Given the description of an element on the screen output the (x, y) to click on. 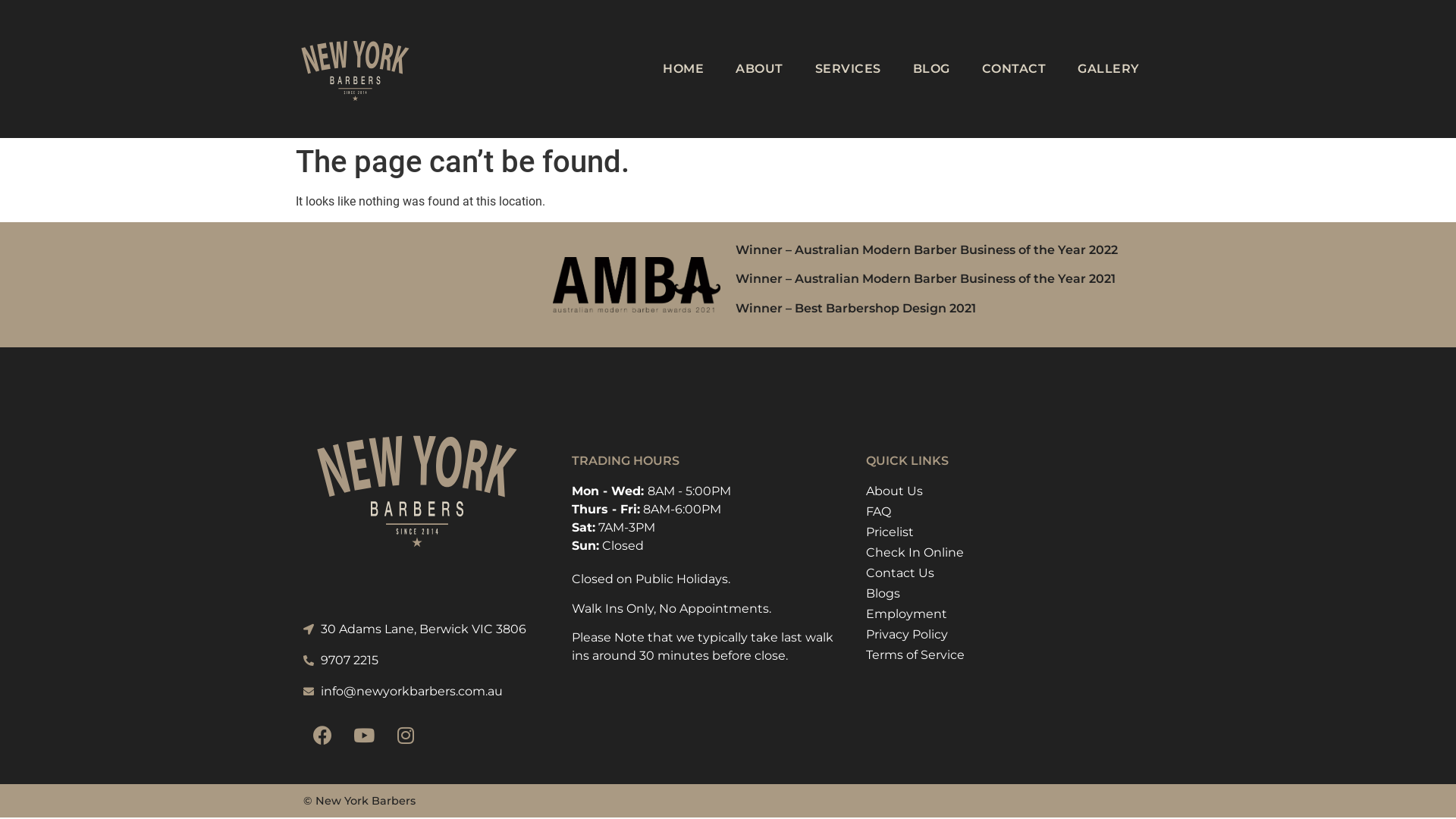
BLOG Element type: text (931, 68)
FAQ Element type: text (990, 511)
SERVICES Element type: text (848, 68)
Pricelist Element type: text (990, 532)
9707 2215 Element type: text (426, 660)
Privacy Policy Element type: text (990, 634)
Contact Us Element type: text (990, 573)
ABOUT Element type: text (759, 68)
Check In Online Element type: text (990, 552)
About Us Element type: text (990, 491)
CONTACT Element type: text (1014, 68)
GALLERY Element type: text (1108, 68)
Blogs Element type: text (990, 593)
Terms of Service Element type: text (990, 655)
30 Adams Lane, Berwick VIC 3806 Element type: text (426, 629)
info@newyorkbarbers.com.au Element type: text (426, 691)
HOME Element type: text (682, 68)
Employment Element type: text (990, 614)
